Given the description of an element on the screen output the (x, y) to click on. 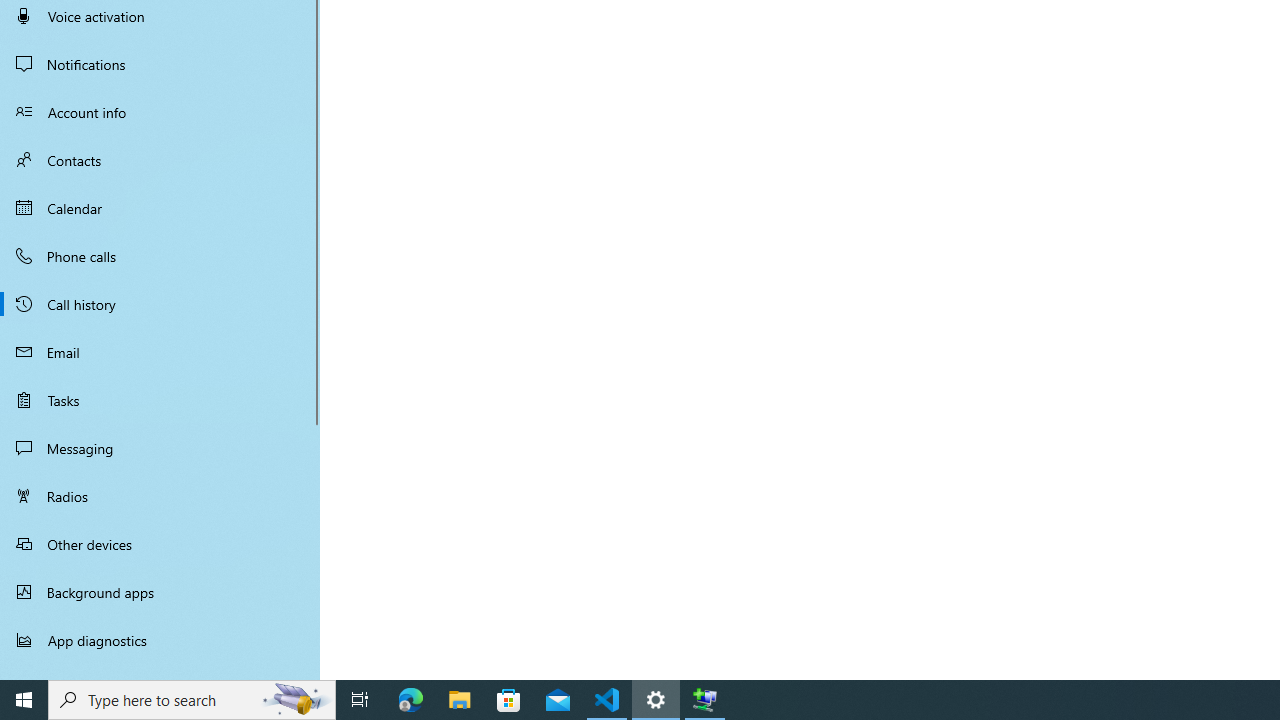
Automatic file downloads (160, 671)
Email (160, 351)
Account info (160, 111)
Background apps (160, 592)
Calendar (160, 207)
Radios (160, 495)
